Given the description of an element on the screen output the (x, y) to click on. 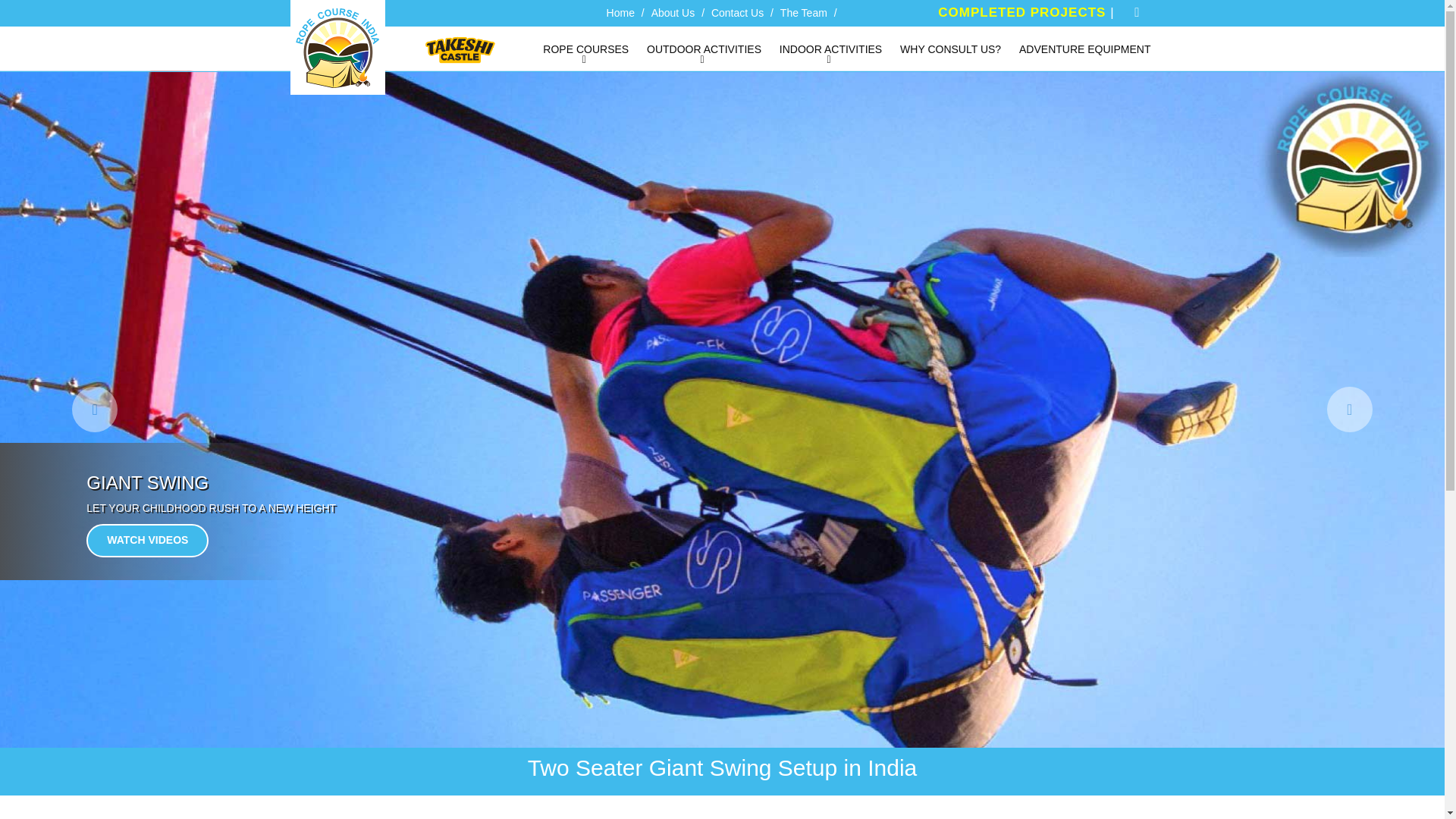
Home (620, 12)
COMPLETED PROJECTS (1023, 11)
INDOOR ACTIVITIES (830, 49)
WHY CONSULT US? (950, 49)
ROPE COURSES (584, 49)
The Team (803, 12)
About Us (672, 12)
Contact Us (736, 12)
OUTDOOR ACTIVITIES (704, 49)
WATCH VIDEOS (146, 540)
